Given the description of an element on the screen output the (x, y) to click on. 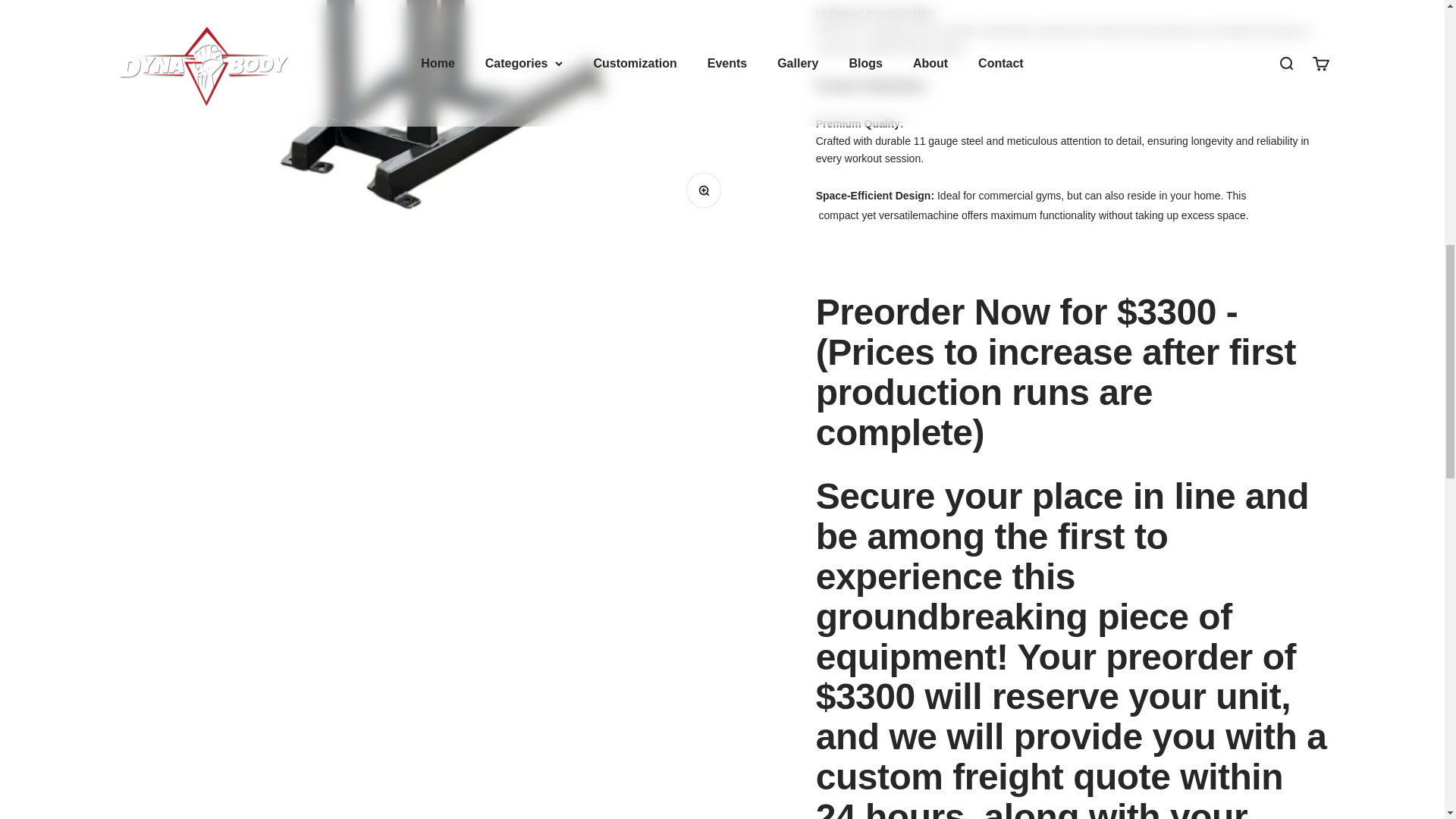
Zoom (707, 193)
